Given the description of an element on the screen output the (x, y) to click on. 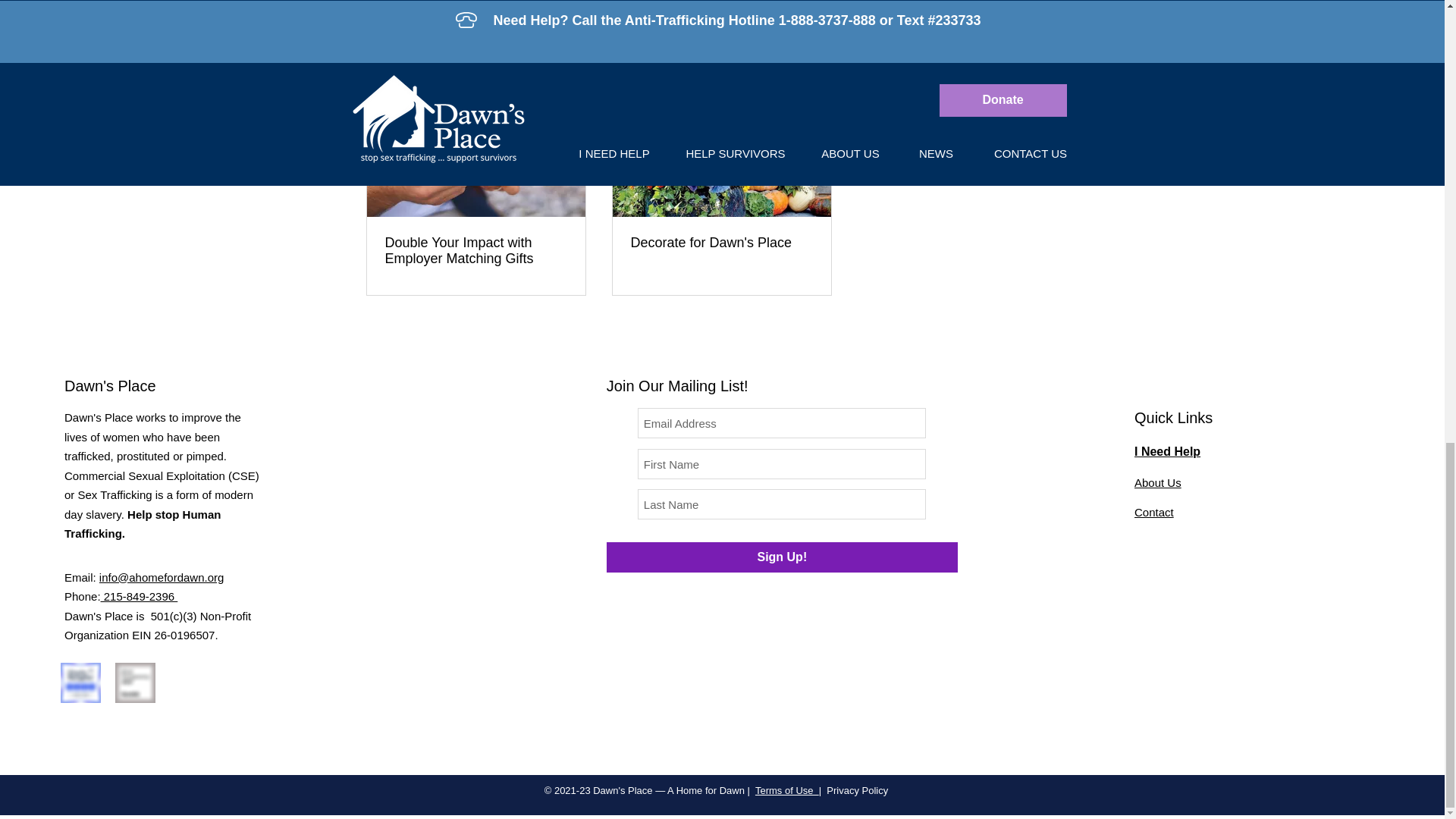
Double Your Impact with Employer Matching Gifts (476, 250)
See All (1061, 66)
candid-seal-silver-2023.png (135, 681)
Four-Star Rating Badge - Full Color.png (80, 681)
Decorate for Dawn's Place (721, 242)
